Given the description of an element on the screen output the (x, y) to click on. 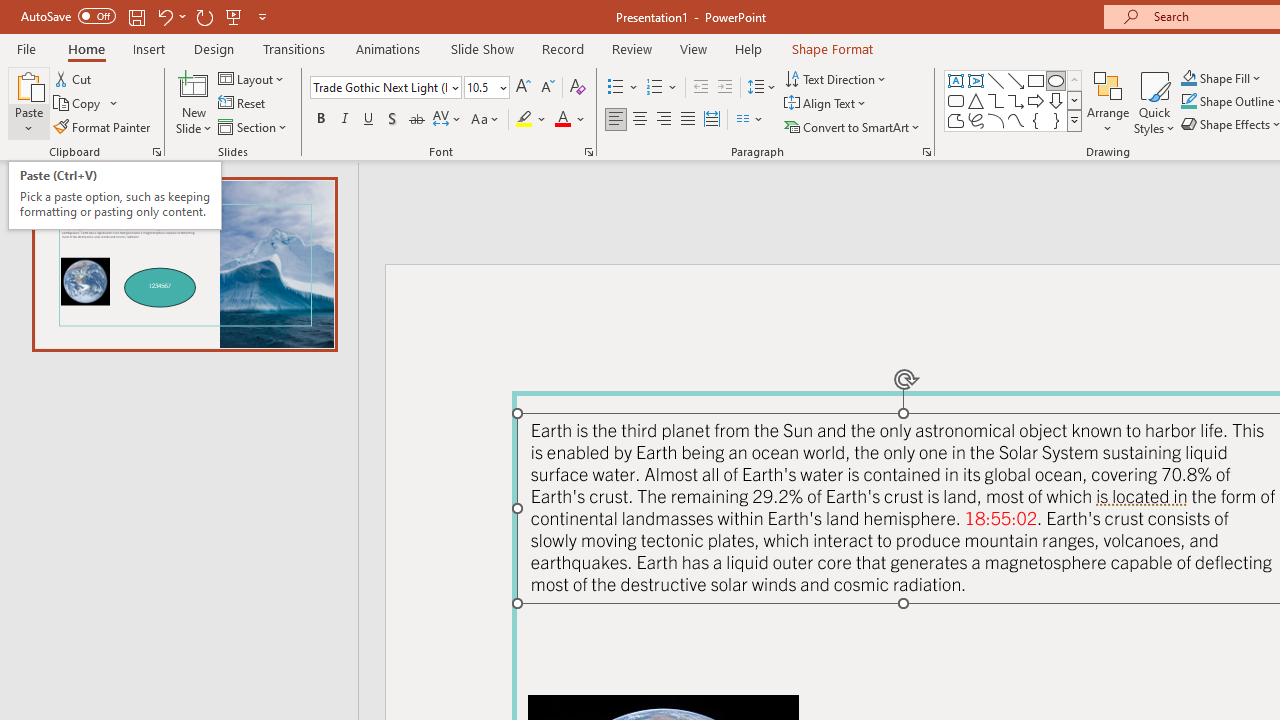
Shape Fill Aqua, Accent 2 (1188, 78)
